Given the description of an element on the screen output the (x, y) to click on. 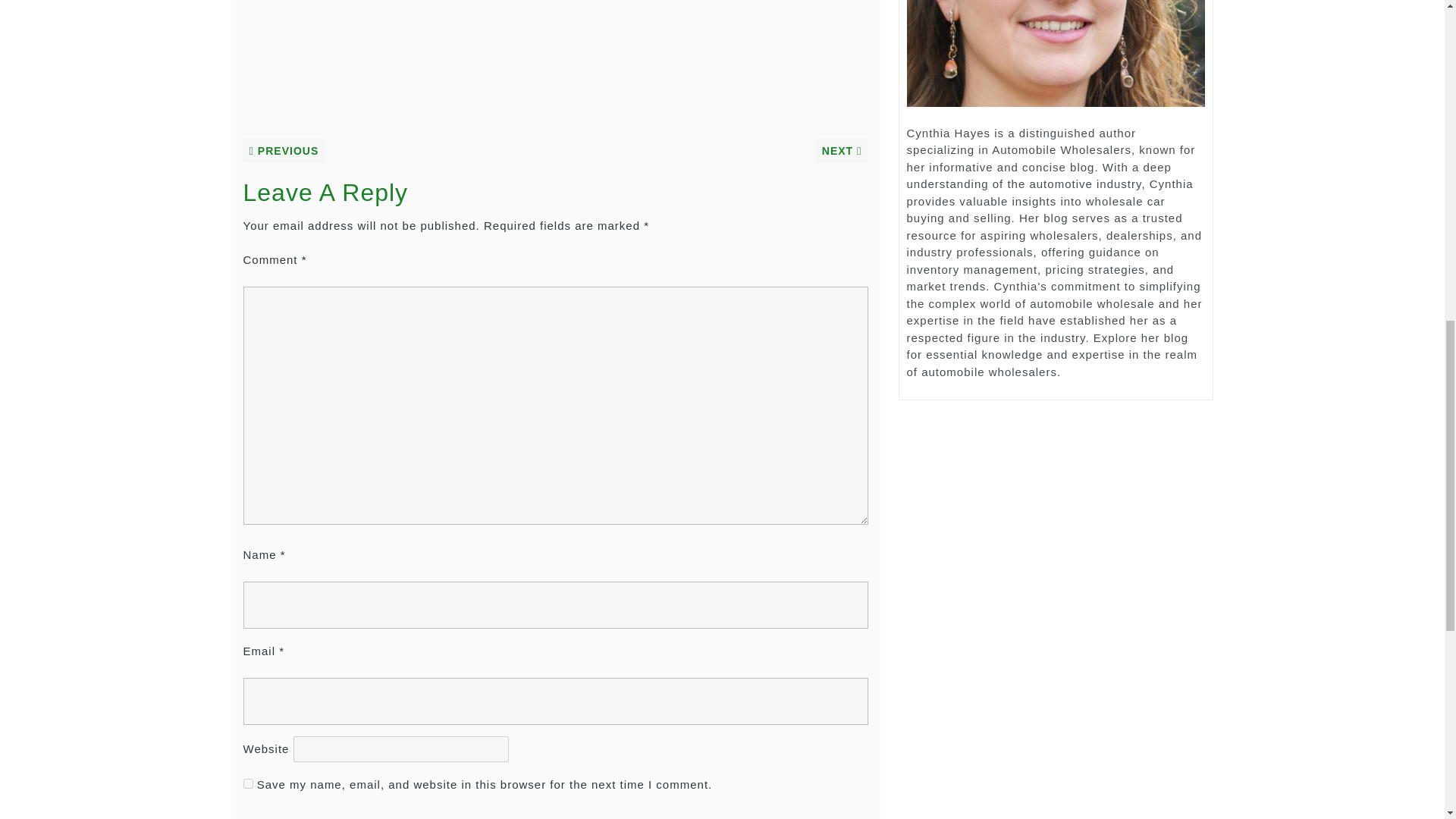
PREVIOUS (283, 150)
yes (247, 783)
NEXT (841, 150)
